Given the description of an element on the screen output the (x, y) to click on. 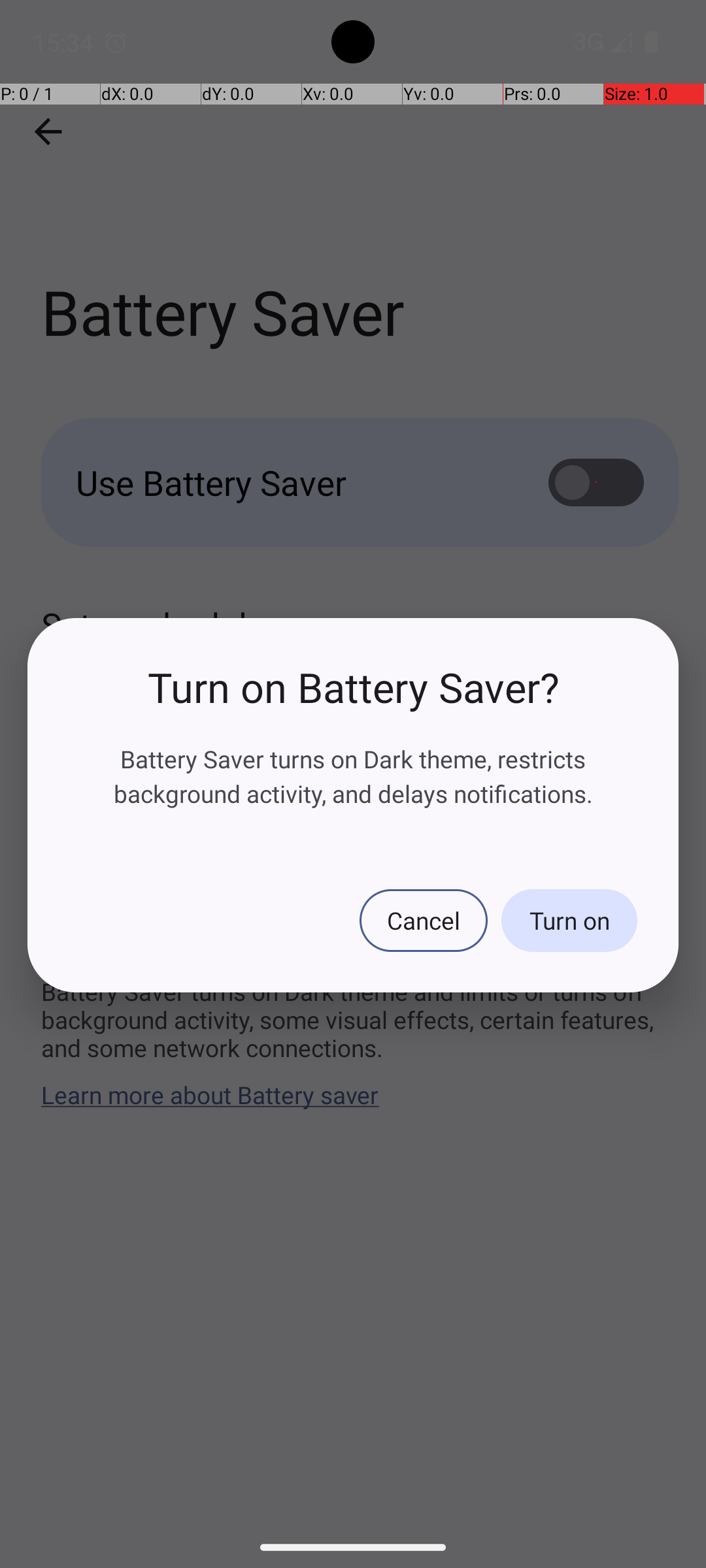
Turn on Battery Saver? Element type: android.widget.TextView (352, 686)
Battery Saver turns on Dark theme, restricts background activity, and delays notifications. Element type: android.widget.TextView (352, 776)
